Given the description of an element on the screen output the (x, y) to click on. 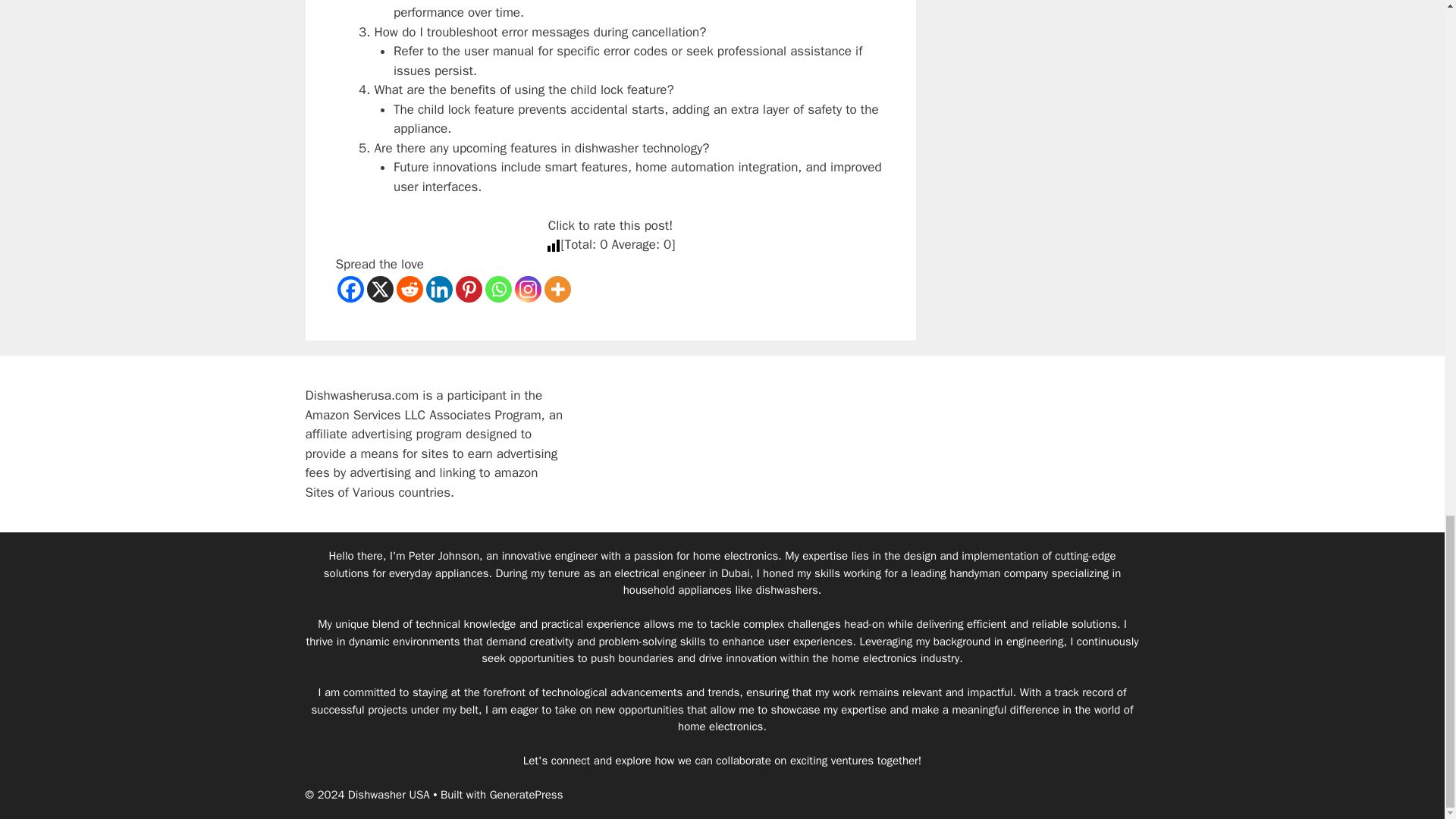
Linkedin (439, 289)
Reddit (409, 289)
X (379, 289)
Pinterest (467, 289)
Instagram (526, 289)
GeneratePress (526, 794)
More (557, 289)
Whatsapp (498, 289)
Facebook (349, 289)
